Given the description of an element on the screen output the (x, y) to click on. 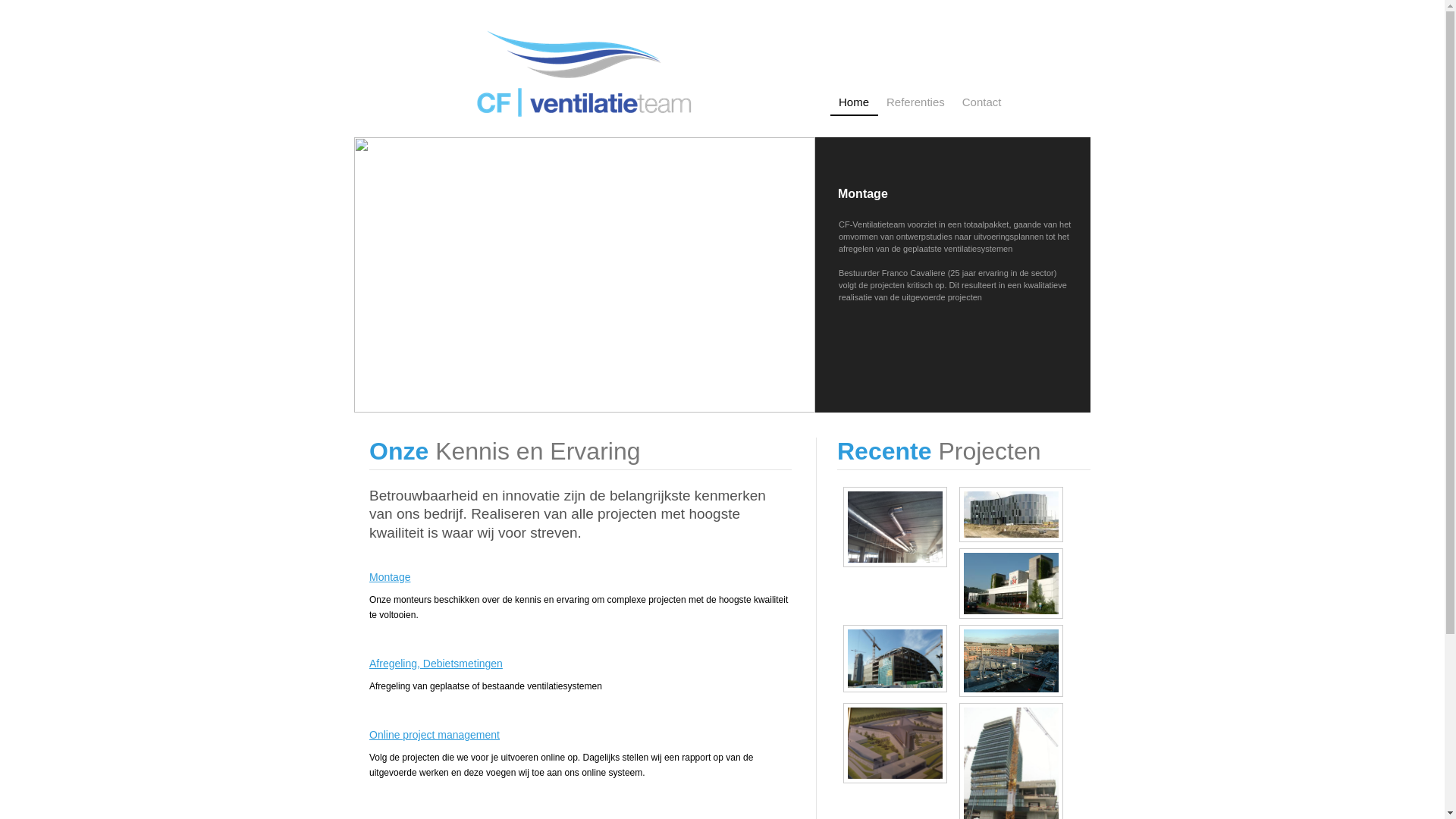
Contact Element type: text (981, 105)
Referenties Element type: text (915, 105)
Online project management Element type: text (580, 736)
Afregeling, Debietsmetingen Element type: text (580, 665)
Montage Element type: text (580, 579)
Home Element type: text (854, 105)
